Given the description of an element on the screen output the (x, y) to click on. 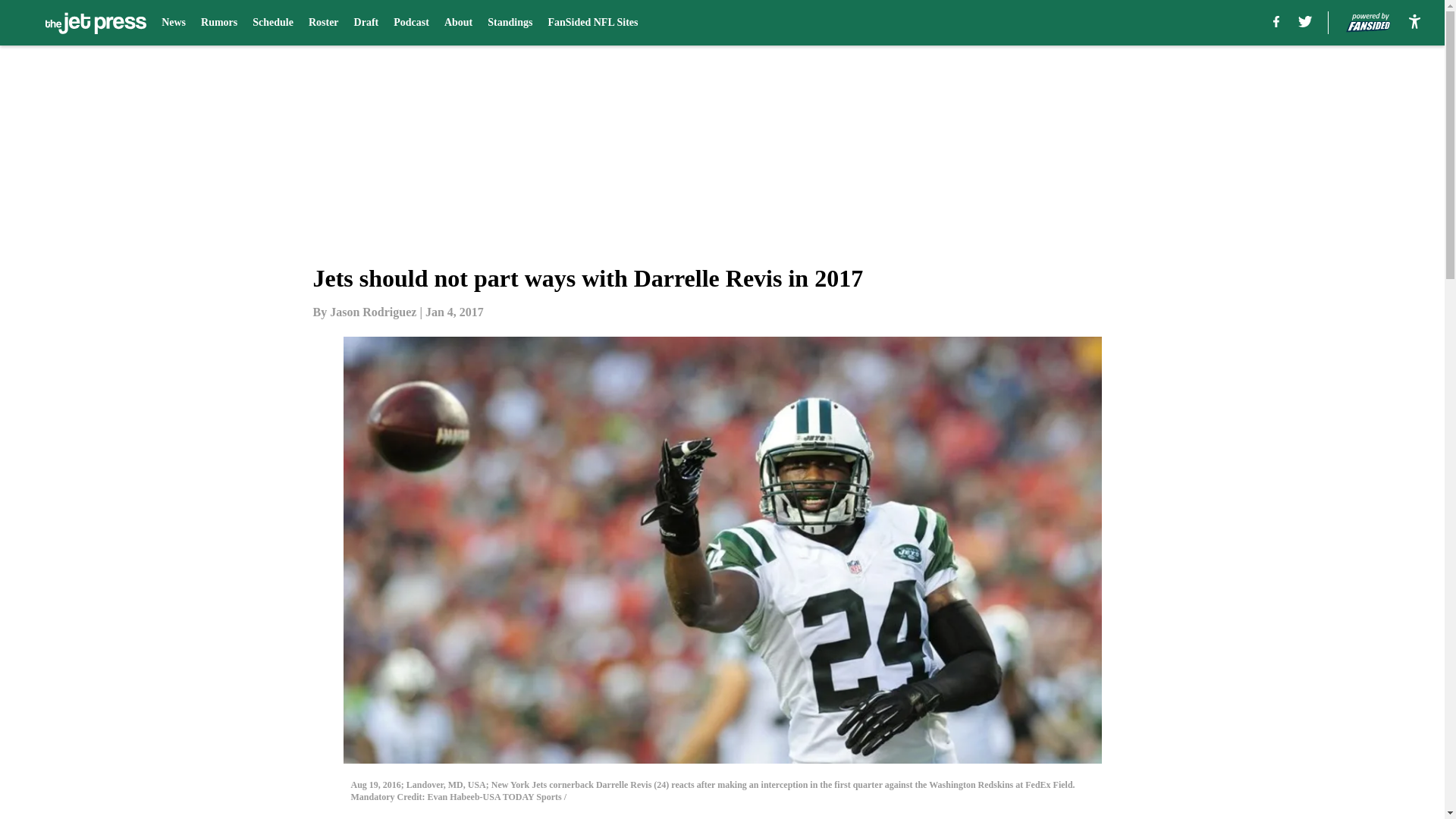
News (173, 22)
Schedule (272, 22)
Roster (323, 22)
Draft (365, 22)
Rumors (218, 22)
Podcast (411, 22)
FanSided NFL Sites (592, 22)
Standings (509, 22)
About (457, 22)
